Given the description of an element on the screen output the (x, y) to click on. 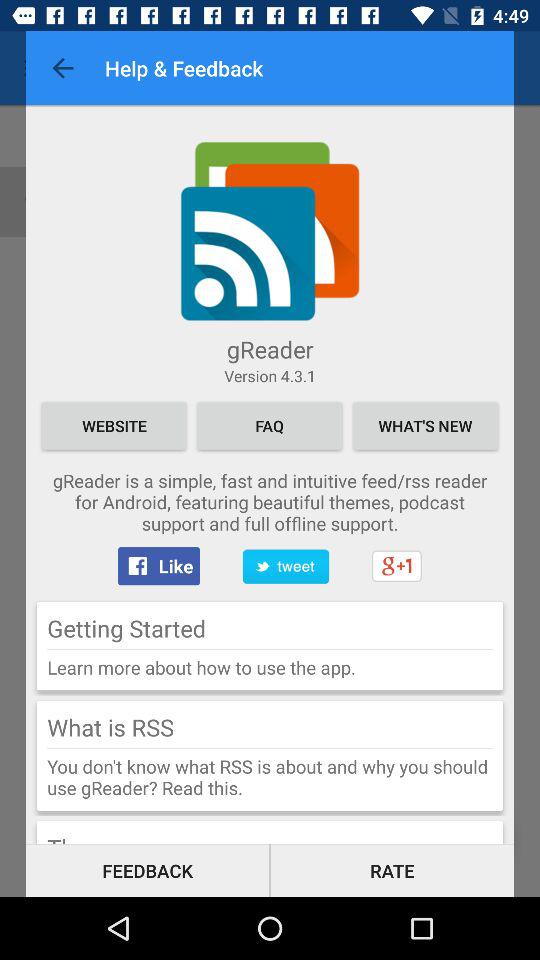
choose icon below you don t (391, 870)
